Given the description of an element on the screen output the (x, y) to click on. 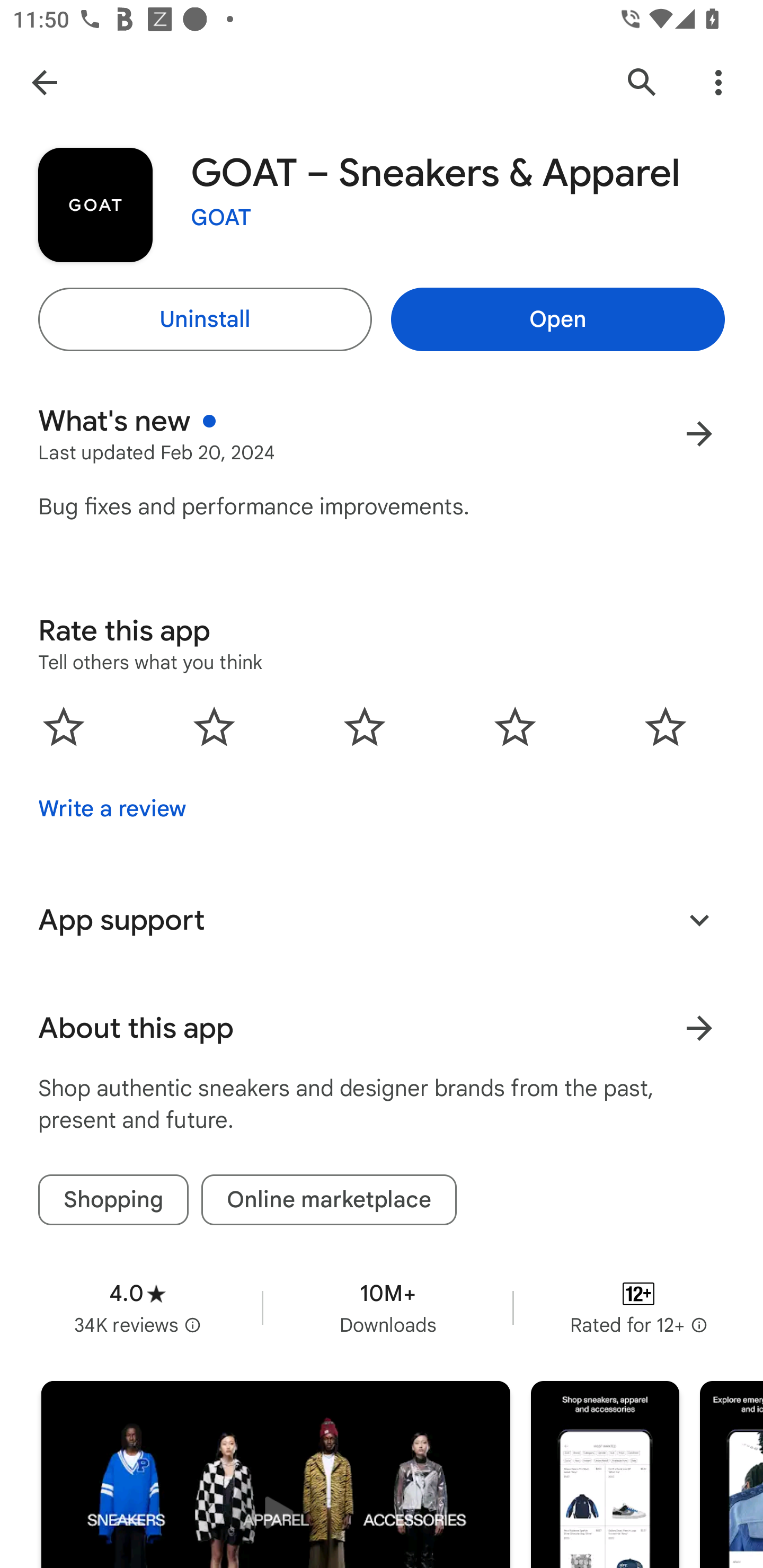
Navigate up (44, 81)
Search Google Play (642, 81)
More Options (718, 81)
GOAT (221, 217)
Uninstall (205, 318)
Open (557, 318)
More results for What's new (699, 433)
0.0 (364, 726)
Write a review (112, 808)
App support Expand (381, 919)
Expand (699, 919)
About this app Learn more About this app (381, 1027)
Learn more About this app (699, 1027)
Shopping tag (113, 1199)
Online marketplace tag (329, 1199)
Average rating 4.0 stars in 34 thousand reviews (137, 1308)
Content rating Rated for 12+ (638, 1308)
Play trailer for "GOAT – Sneakers & Apparel" (275, 1474)
Screenshot "1" of "8" (605, 1474)
